Given the description of an element on the screen output the (x, y) to click on. 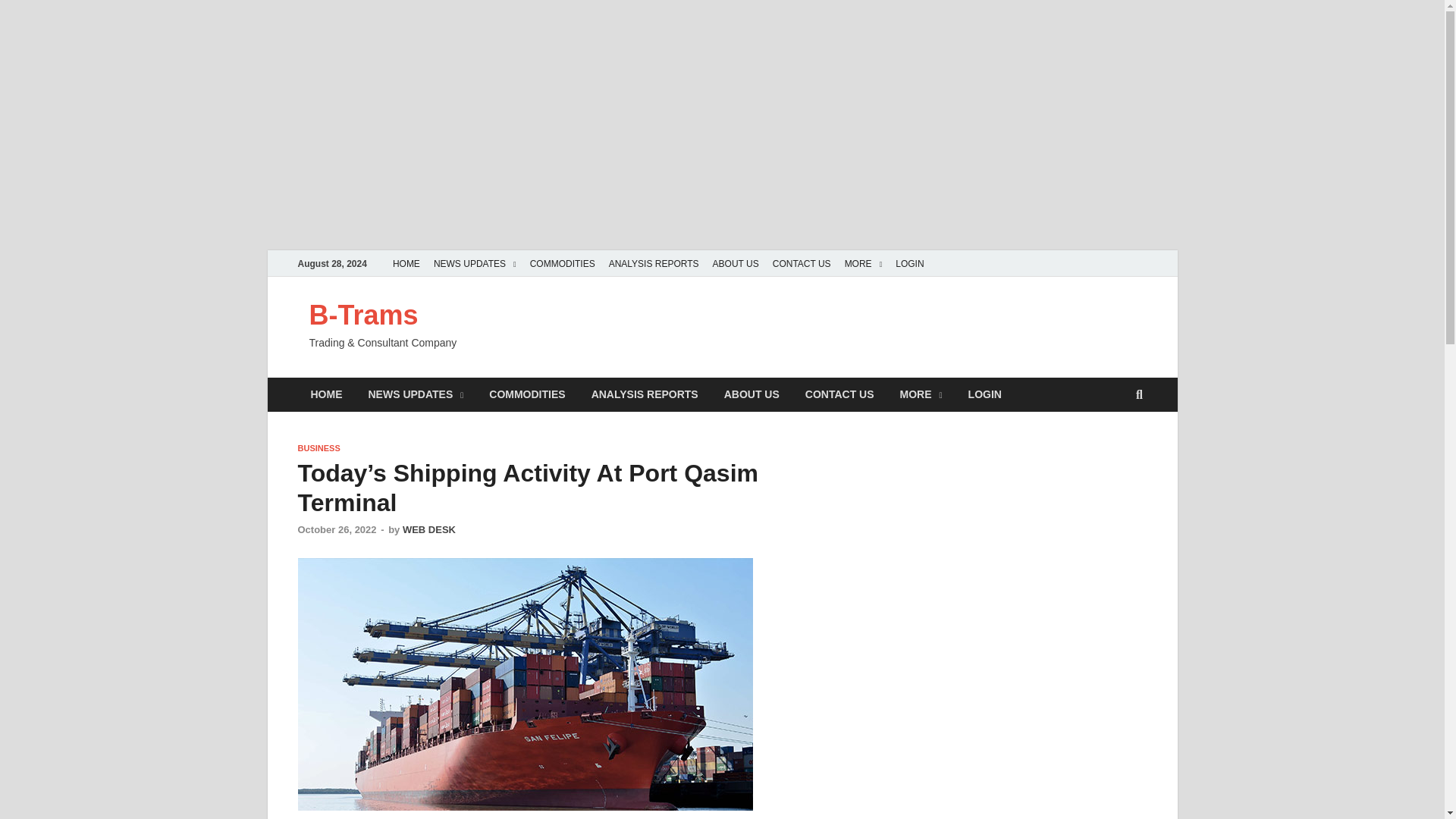
ANALYSIS REPORTS (654, 263)
MORE (920, 394)
COMMODITIES (527, 394)
MORE (863, 263)
NEWS UPDATES (474, 263)
October 26, 2022 (336, 529)
ABOUT US (735, 263)
CONTACT US (801, 263)
ANALYSIS REPORTS (644, 394)
CONTACT US (839, 394)
